Given the description of an element on the screen output the (x, y) to click on. 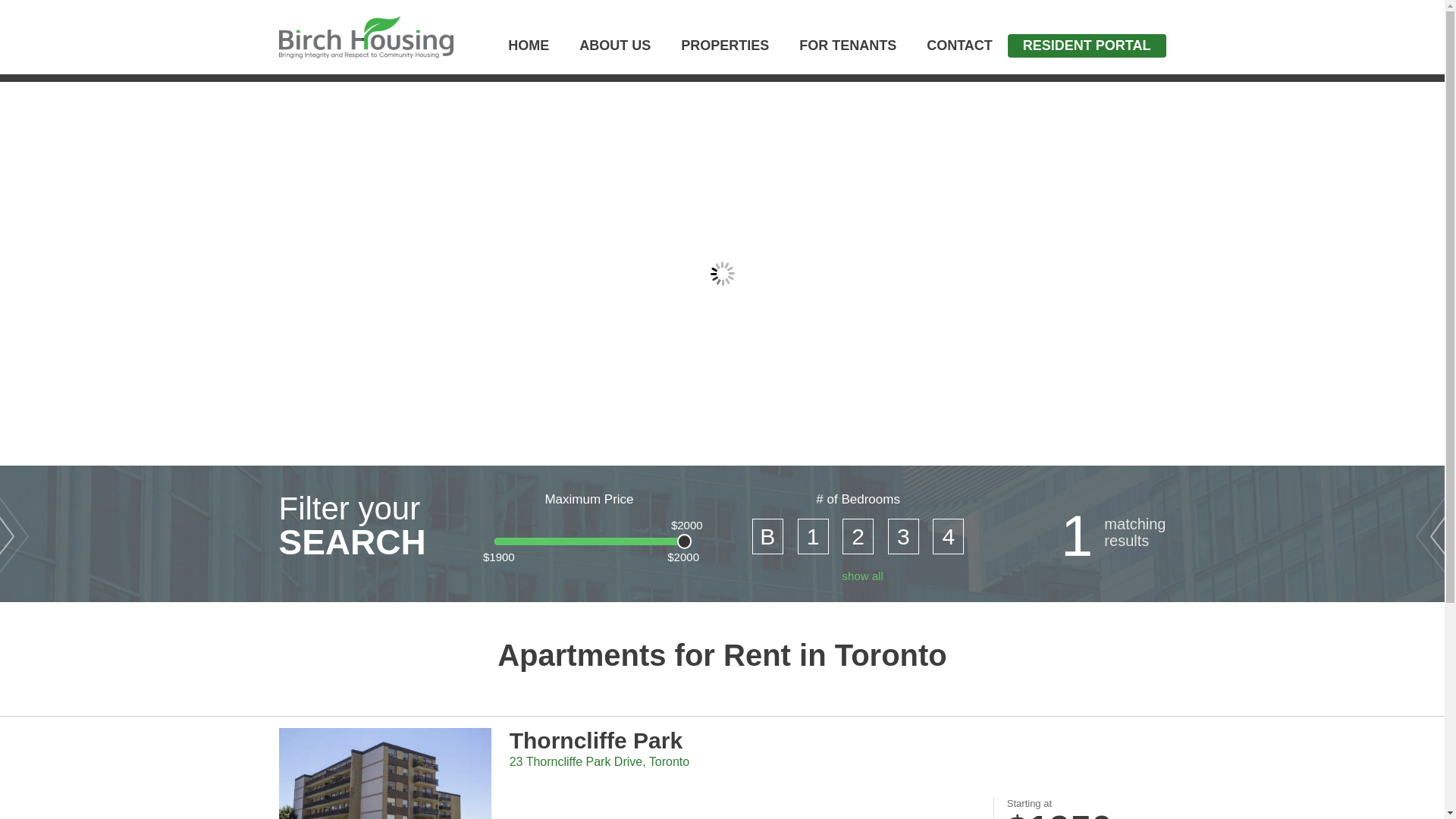
HOME Element type: text (528, 49)
$2000 Element type: text (684, 541)
FOR TENANTS Element type: text (847, 49)
ABOUT US Element type: text (614, 49)
RESIDENT PORTAL Element type: text (1086, 45)
Birch Housing Element type: hover (366, 37)
PROPERTIES Element type: text (724, 49)
CONTACT Element type: text (959, 49)
